Given the description of an element on the screen output the (x, y) to click on. 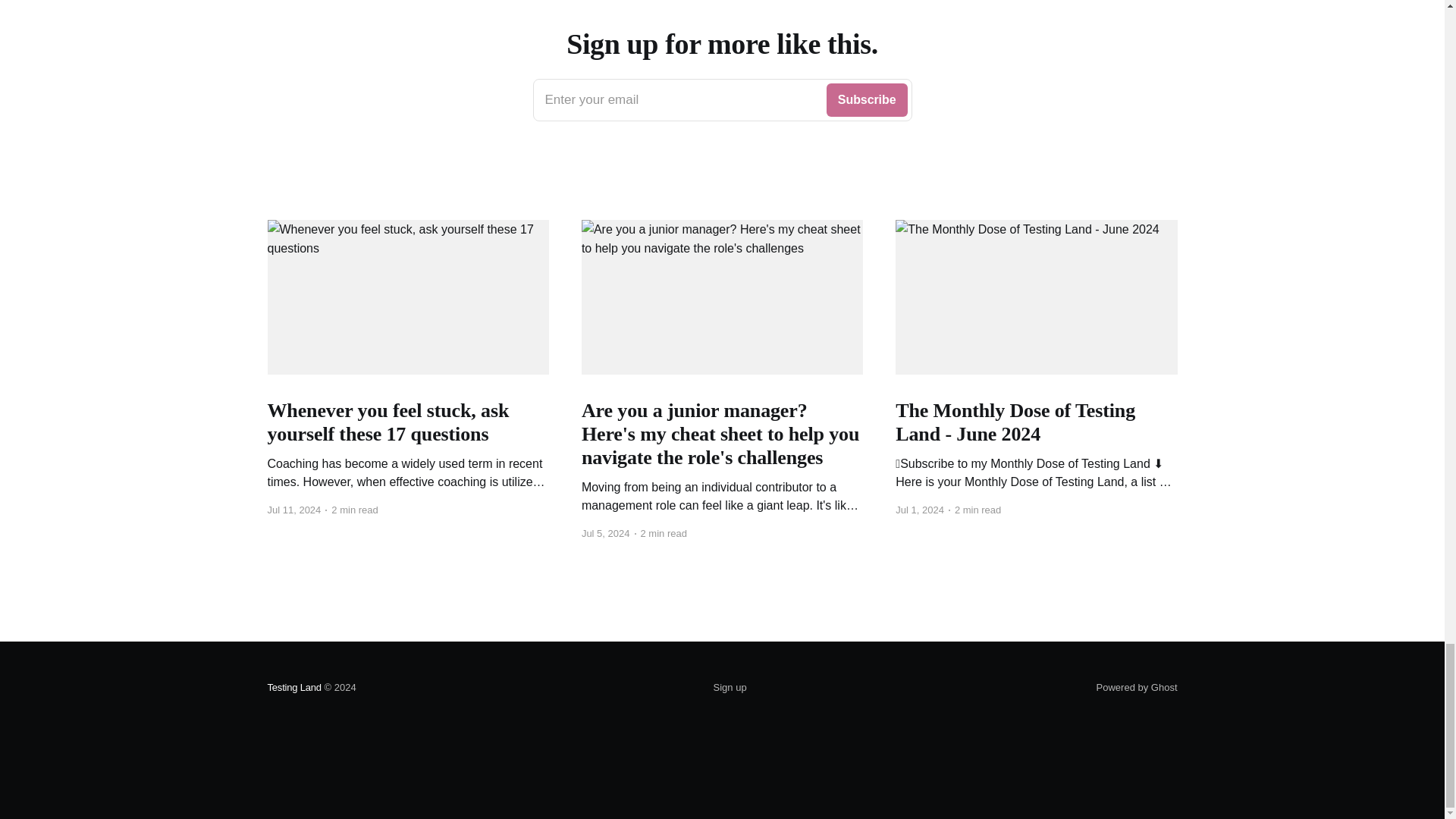
Testing Land (293, 686)
Powered by Ghost (1136, 686)
Sign up (729, 687)
